Given the description of an element on the screen output the (x, y) to click on. 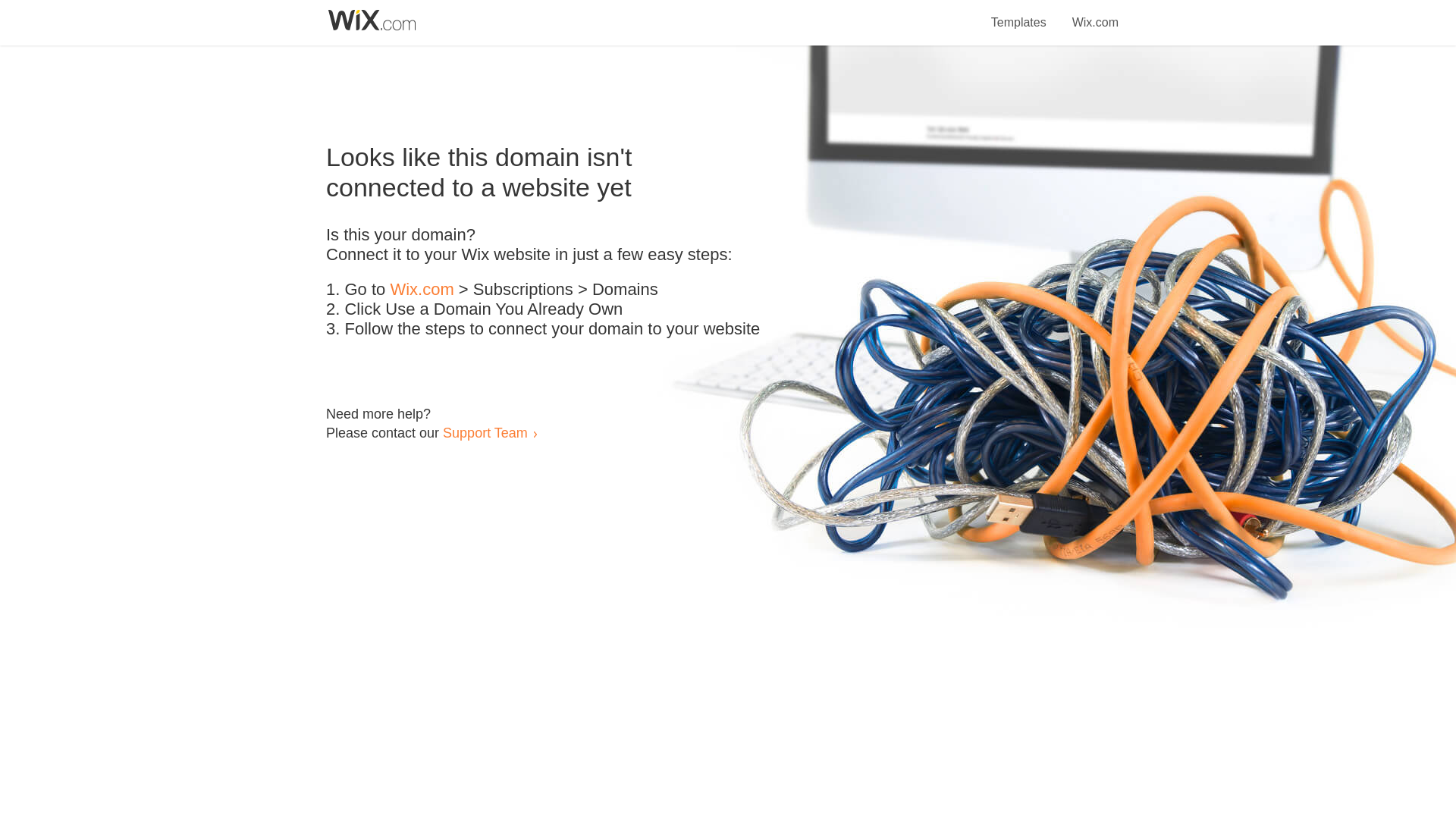
Wix.com (421, 289)
Support Team (484, 432)
Templates (1018, 14)
Wix.com (1095, 14)
